Given the description of an element on the screen output the (x, y) to click on. 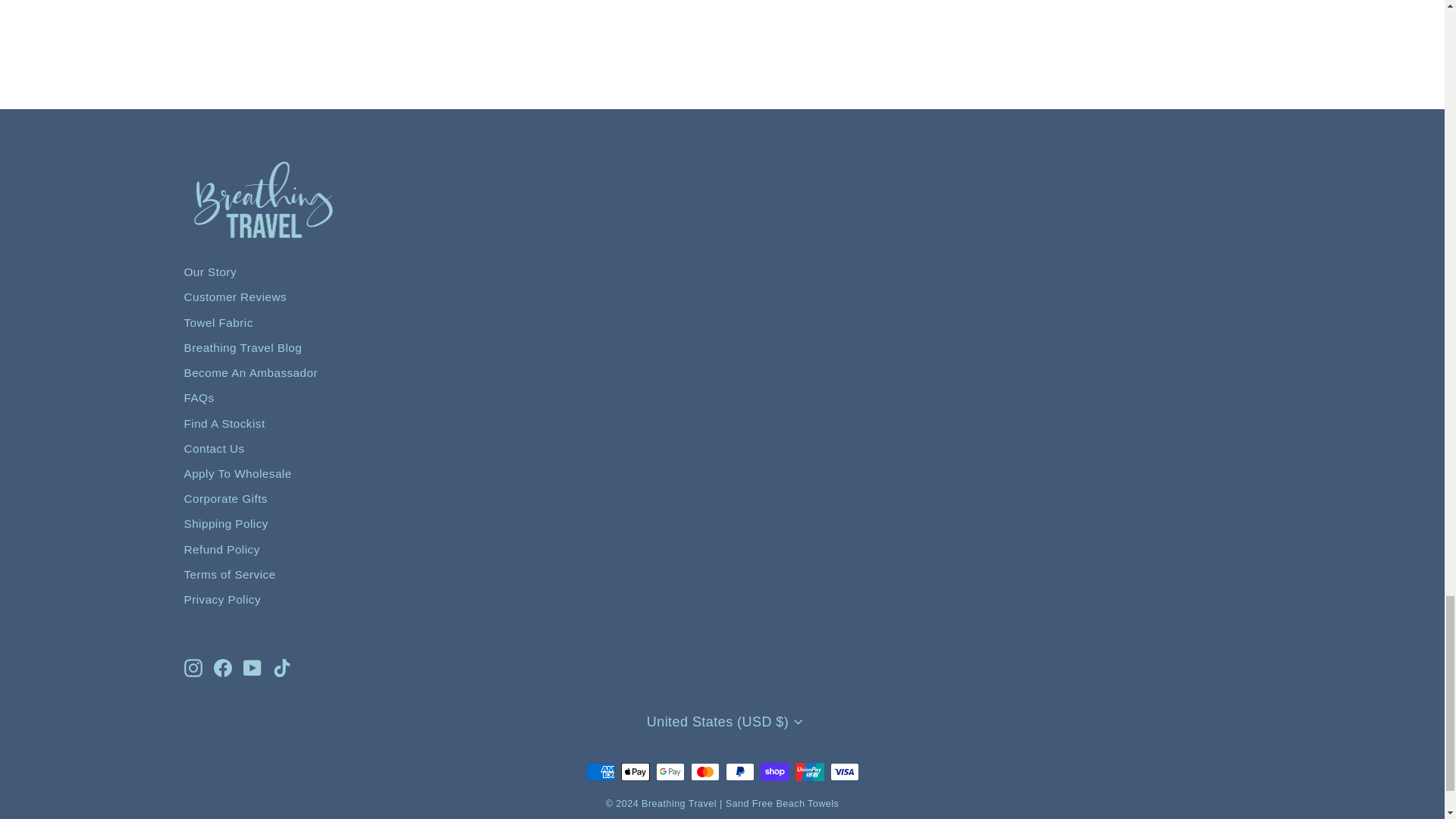
PayPal (739, 771)
Mastercard (704, 771)
Union Pay (809, 771)
American Express (599, 771)
Shop Pay (774, 771)
Apple Pay (634, 771)
Google Pay (669, 771)
Visa (844, 771)
